Given the description of an element on the screen output the (x, y) to click on. 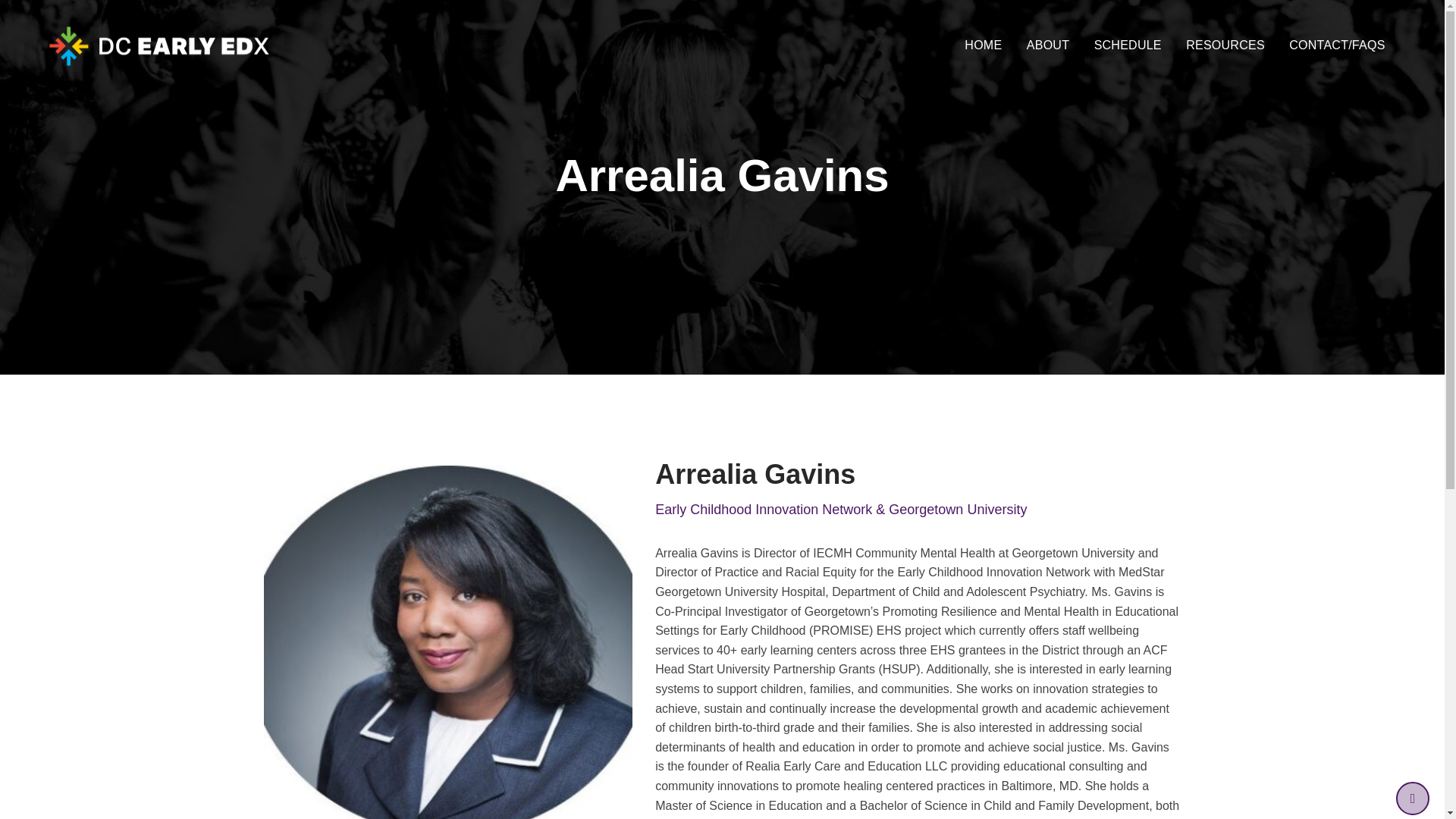
RESOURCES (1224, 45)
SCHEDULE (1127, 45)
ABOUT (1048, 45)
